Given the description of an element on the screen output the (x, y) to click on. 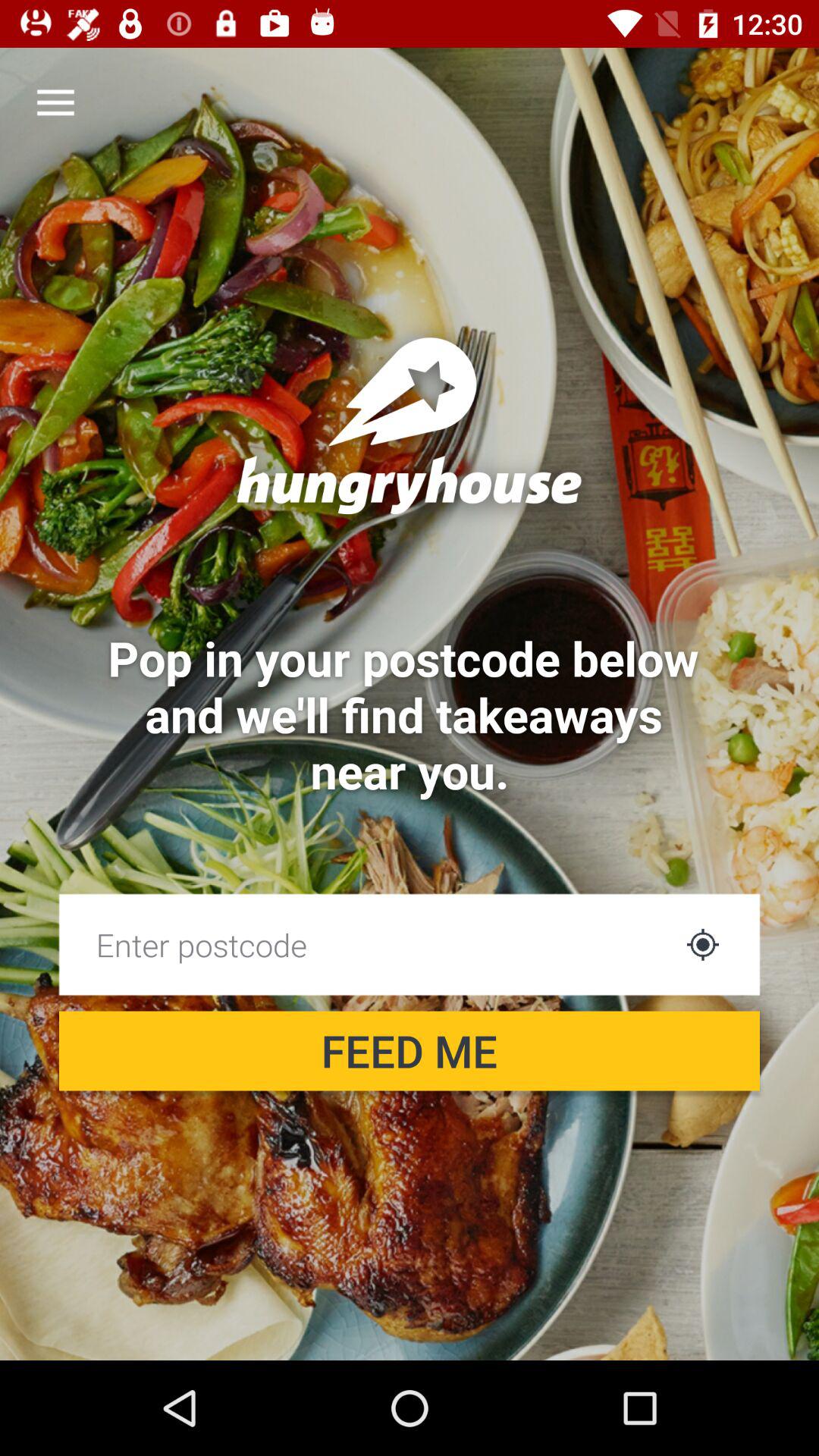
turn off the item above pop in your item (55, 103)
